Given the description of an element on the screen output the (x, y) to click on. 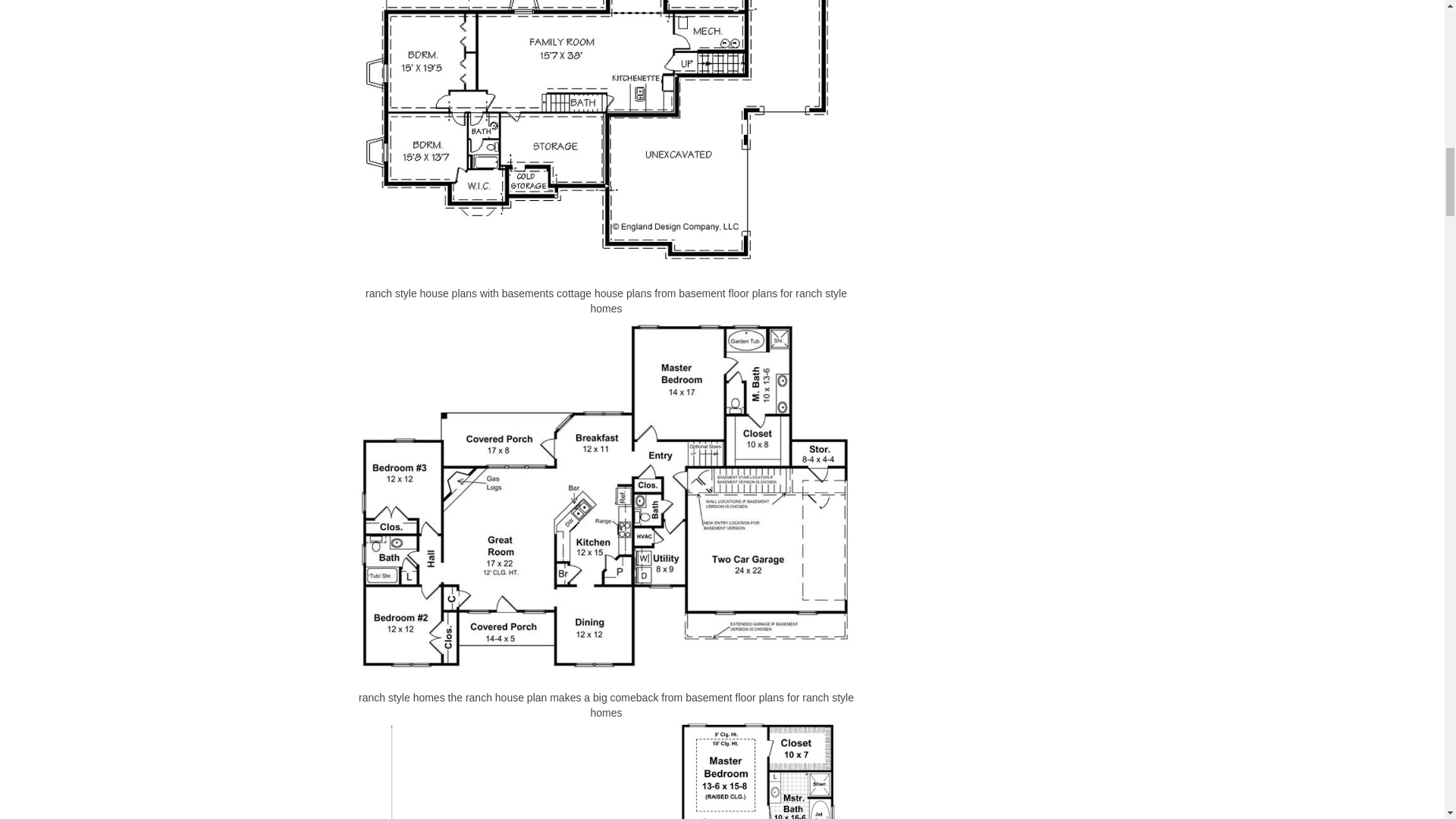
ranch style house plans with basements ranch house plans (607, 770)
